Given the description of an element on the screen output the (x, y) to click on. 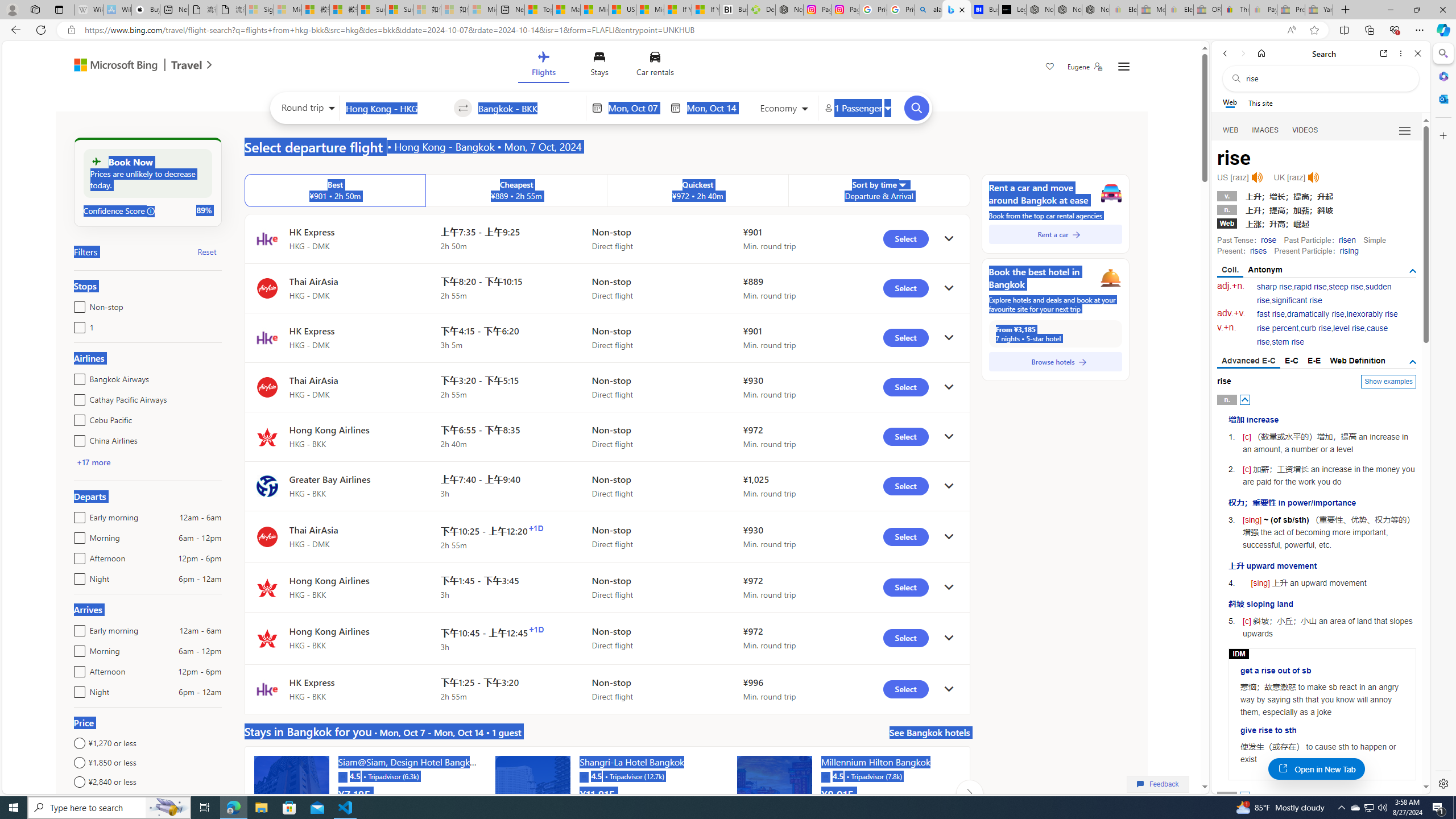
Tripadvisor (825, 775)
Class: trvl-hub-header nofilter (601, 65)
+17 more (92, 461)
Click to listen (1313, 177)
Marine life - MSN (566, 9)
